Given the description of an element on the screen output the (x, y) to click on. 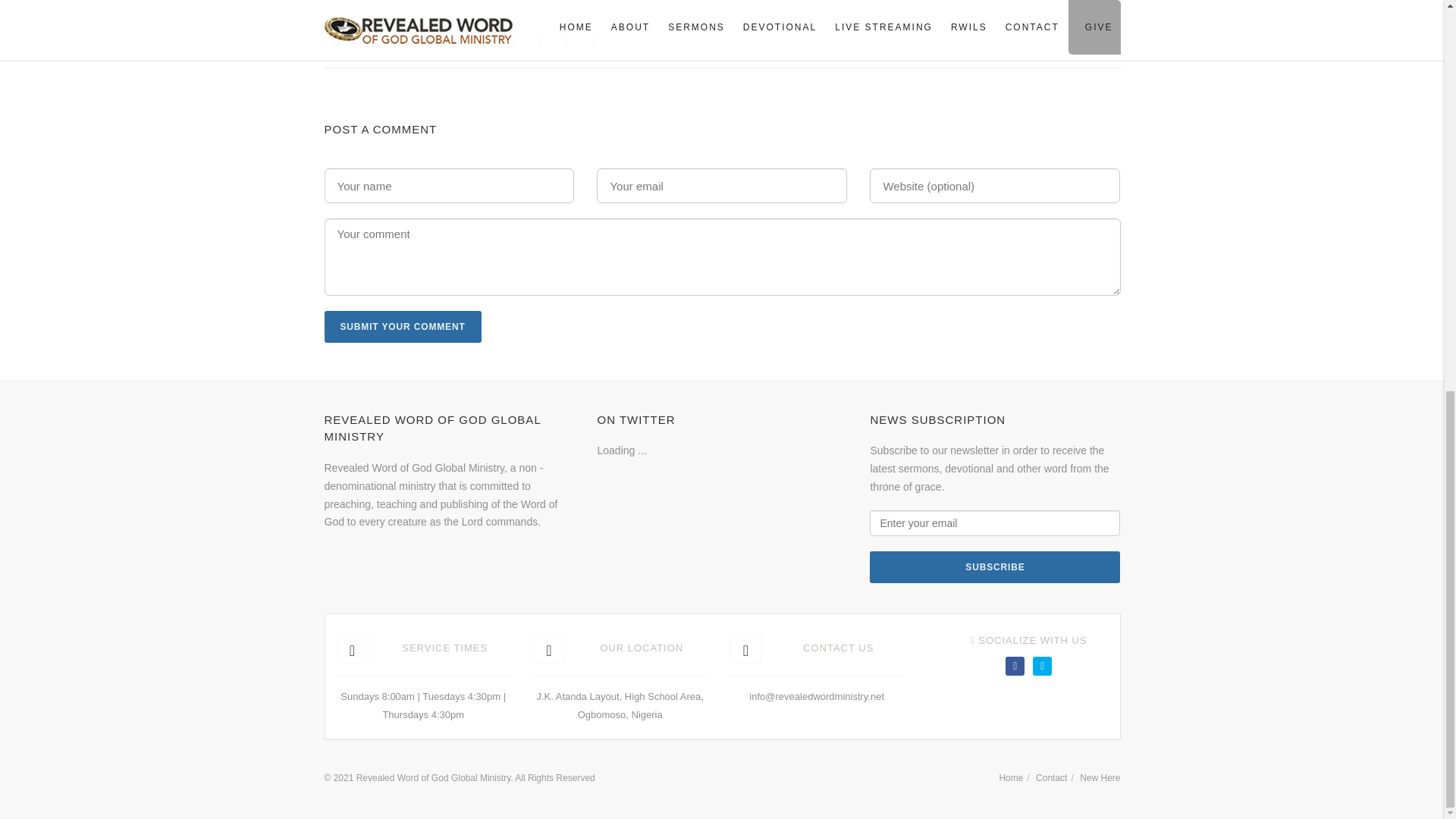
Post to Tumblr (485, 41)
Contact (1051, 777)
Submit to Reddit (538, 41)
Share on Facebook (402, 41)
Submit your comment (402, 327)
Home (1010, 777)
Share on LinkedIn (566, 41)
Next (825, 210)
Email (594, 41)
Submit your comment (402, 327)
New Here (1099, 777)
Tweet (429, 41)
Subscribe (994, 567)
Pin it (511, 41)
Subscribe (994, 567)
